Given the description of an element on the screen output the (x, y) to click on. 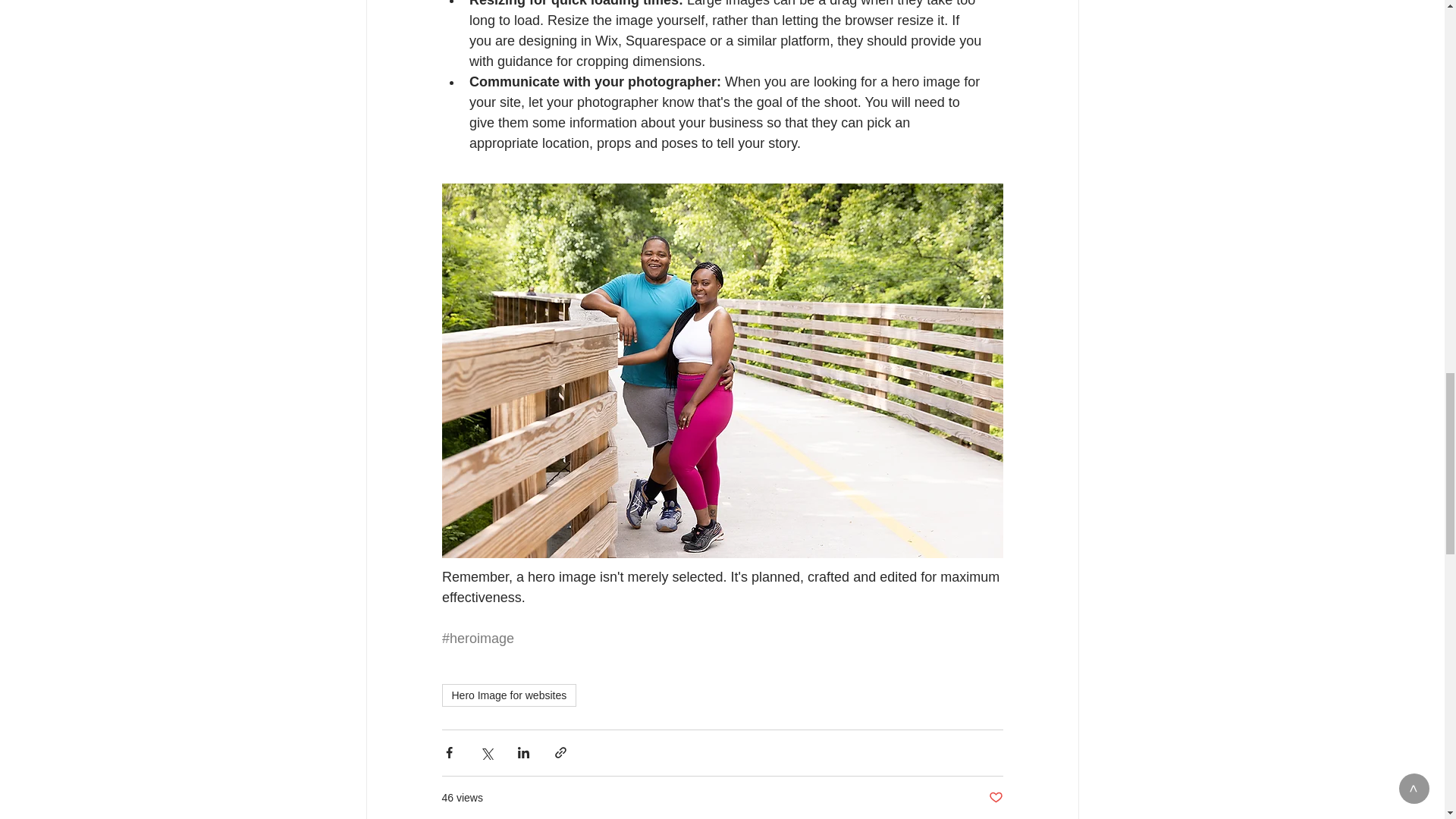
Hero Image for websites (508, 694)
Post not marked as liked (995, 797)
